Given the description of an element on the screen output the (x, y) to click on. 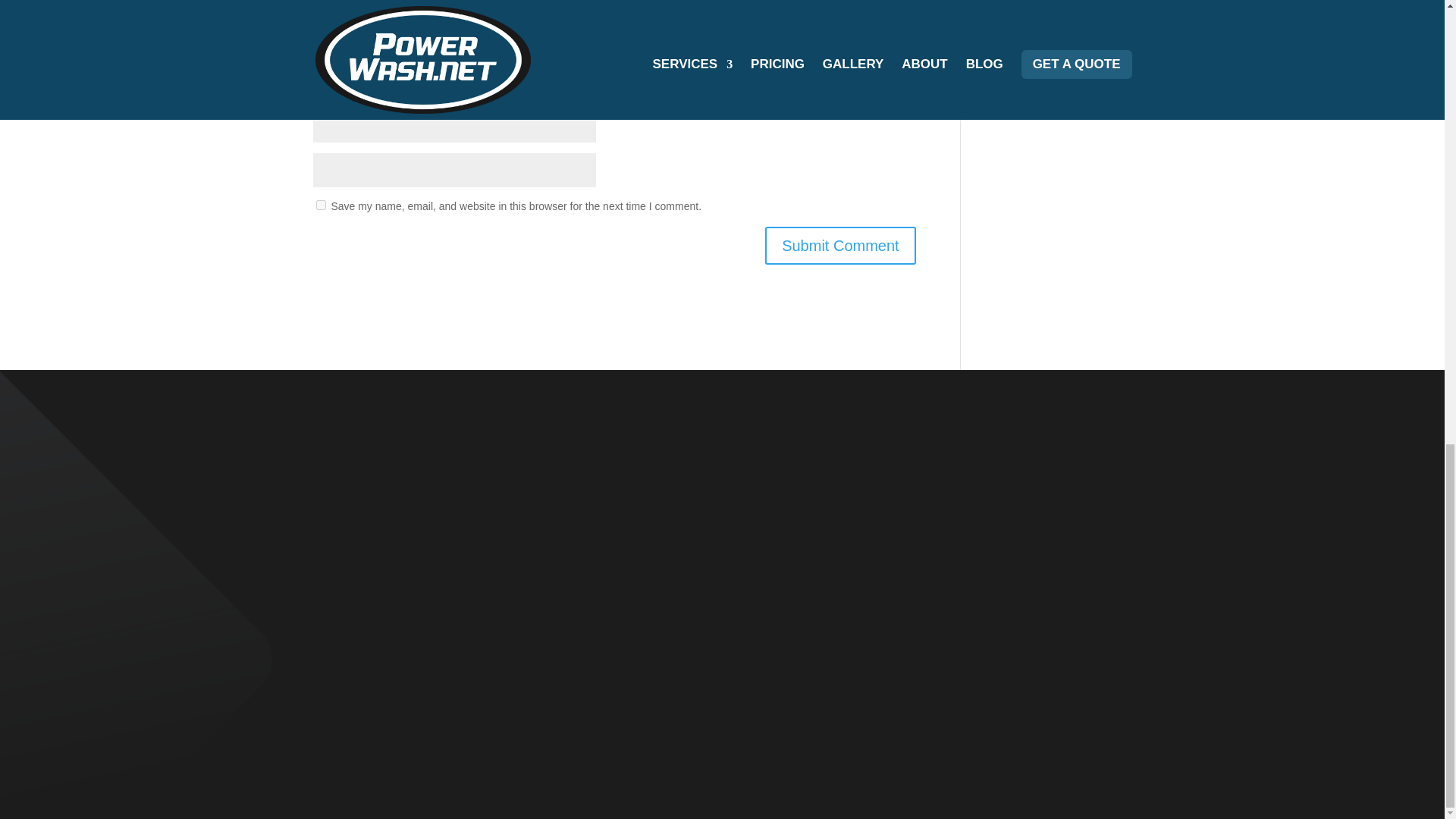
Submit Comment (840, 245)
yes (319, 204)
Submit Comment (840, 245)
